Given the description of an element on the screen output the (x, y) to click on. 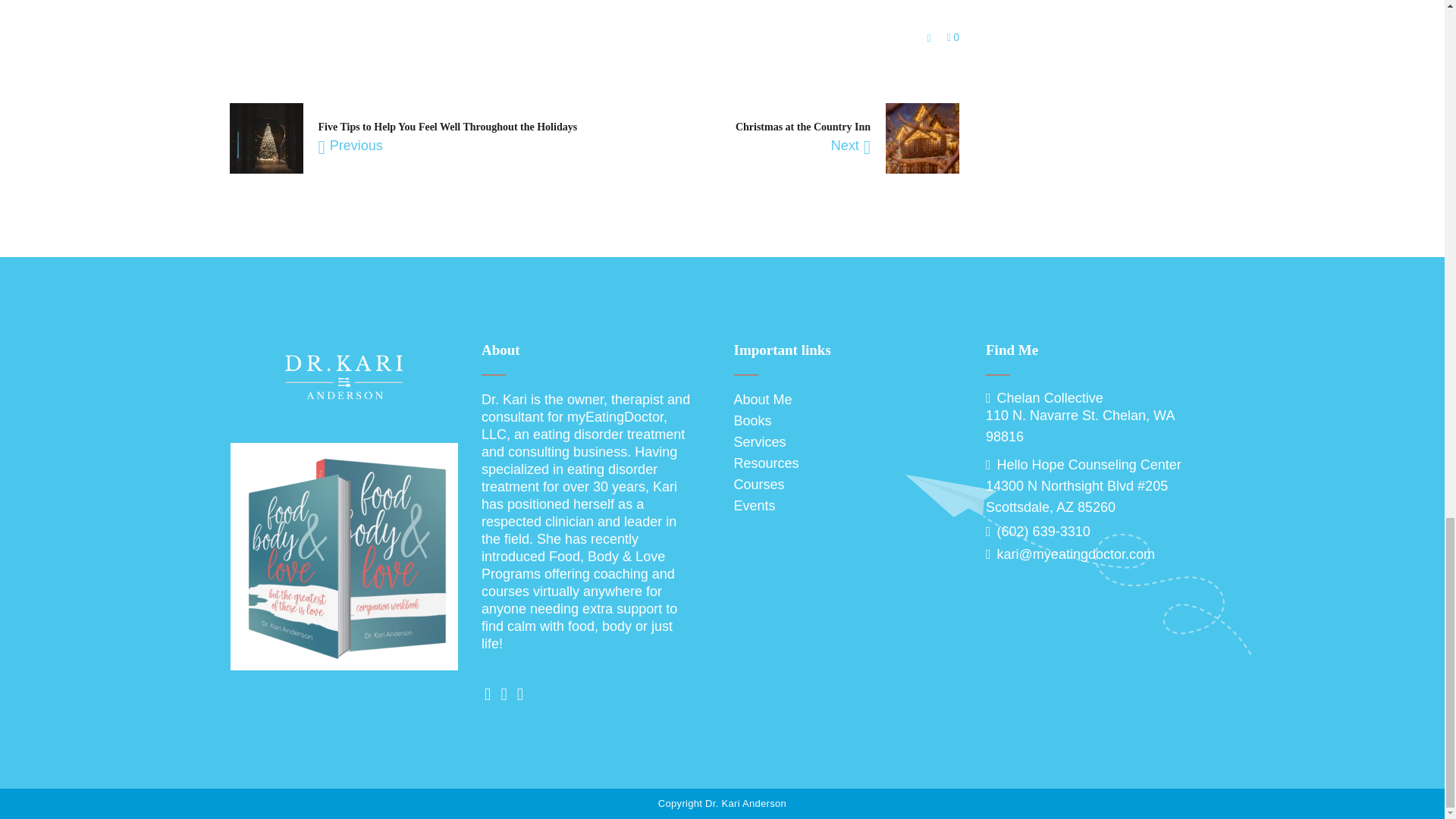
Five Tips to Help You Feel Well Throughout the Holidays (448, 126)
Christmas at the Country Inn (802, 126)
Like this (953, 37)
